Given the description of an element on the screen output the (x, y) to click on. 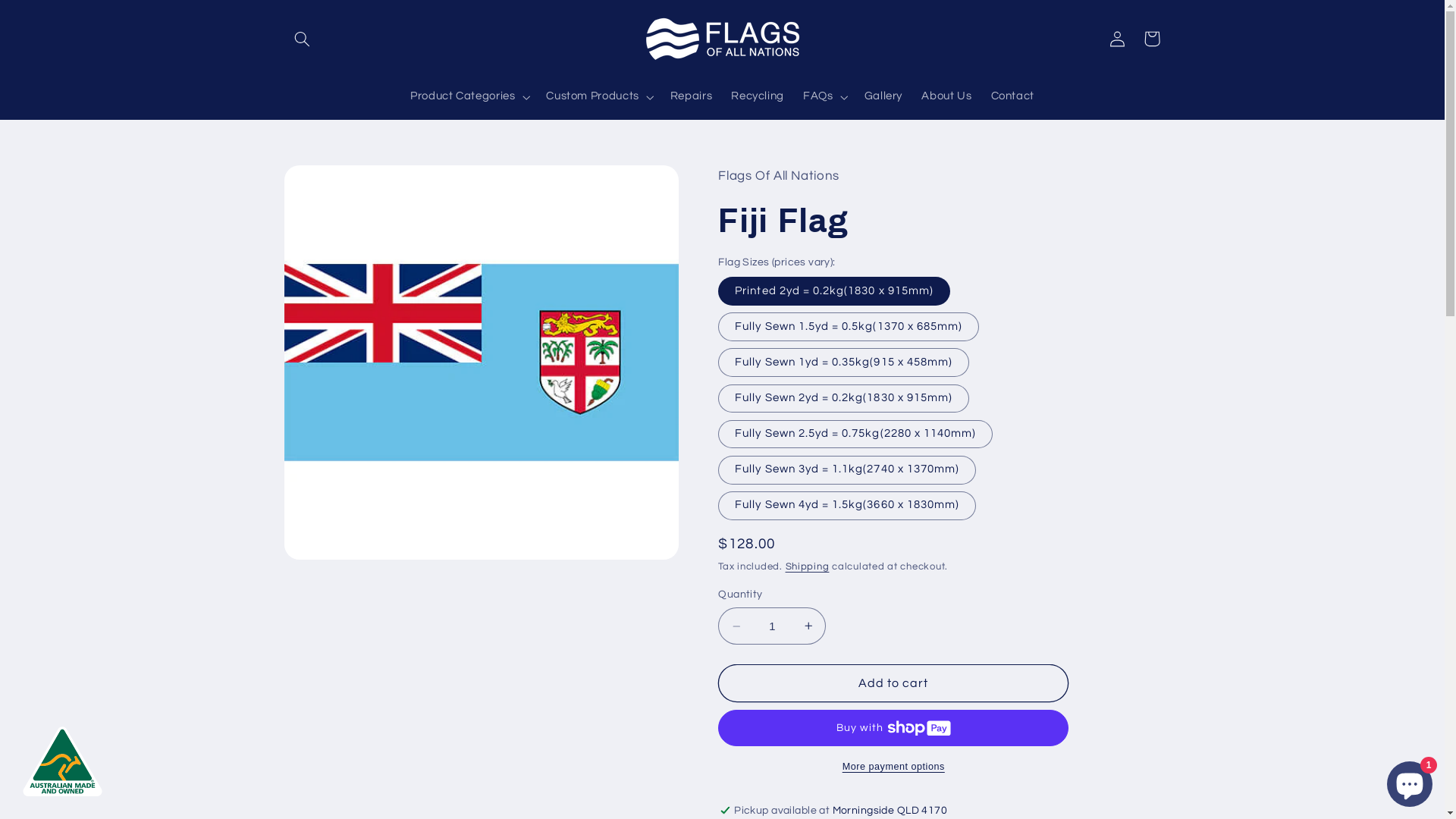
Repairs Element type: text (690, 96)
Skip to product information Element type: text (331, 182)
Add to cart Element type: text (893, 682)
Shipping Element type: text (807, 566)
Increase quantity for Fiji Flag Element type: text (807, 625)
Contact Element type: text (1012, 96)
More payment options Element type: text (893, 767)
About Us Element type: text (946, 96)
Decrease quantity for Fiji Flag Element type: text (735, 625)
Cart Element type: text (1151, 38)
Shopify online store chat Element type: hover (1409, 780)
Log in Element type: text (1116, 38)
Gallery Element type: text (883, 96)
Recycling Element type: text (757, 96)
